Given the description of an element on the screen output the (x, y) to click on. 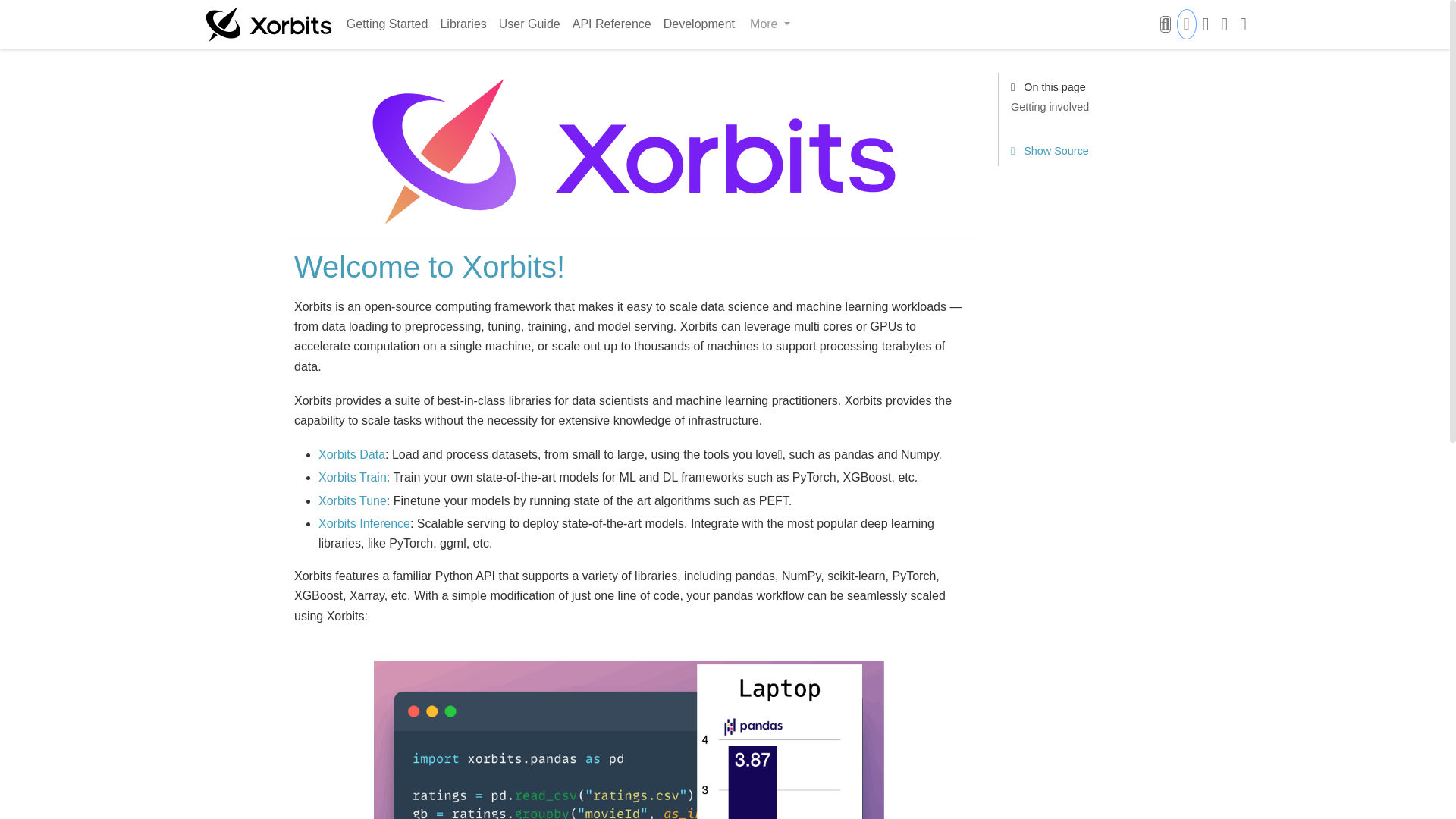
More (770, 23)
Twitter (1243, 24)
Getting Started (386, 23)
Xorbits Tune (352, 500)
GitHub (1205, 24)
API Reference (612, 23)
Xorbits Data (351, 454)
Getting involved (1085, 107)
User Guide (529, 23)
Xorbits Train (352, 477)
Development (699, 23)
Libraries (462, 23)
Slack (1224, 24)
Xorbits Inference (364, 522)
